Given the description of an element on the screen output the (x, y) to click on. 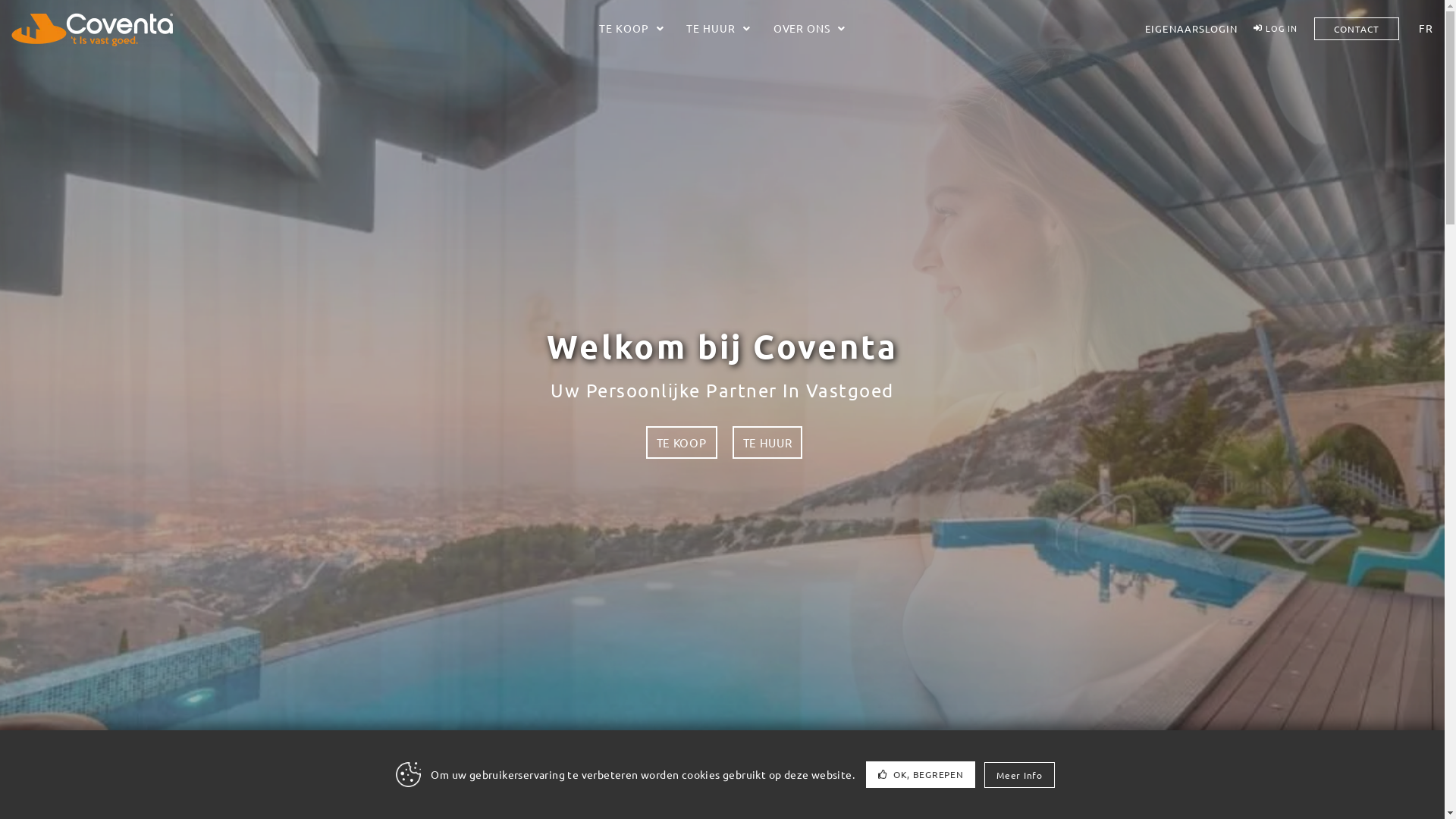
OVER ONS Element type: text (809, 27)
FR Element type: text (1421, 27)
TE HUUR Element type: text (717, 27)
TE KOOP Element type: text (631, 27)
EIGENAARSLOGIN Element type: text (1191, 28)
MEER INFO Element type: text (1332, 774)
CONTACT Element type: text (1356, 27)
OK, BEGREPEN Element type: text (920, 774)
TE KOOP Element type: text (681, 442)
TE HUUR Element type: text (767, 442)
LOG IN Element type: text (1275, 27)
Meer Info Element type: text (1019, 774)
